Given the description of an element on the screen output the (x, y) to click on. 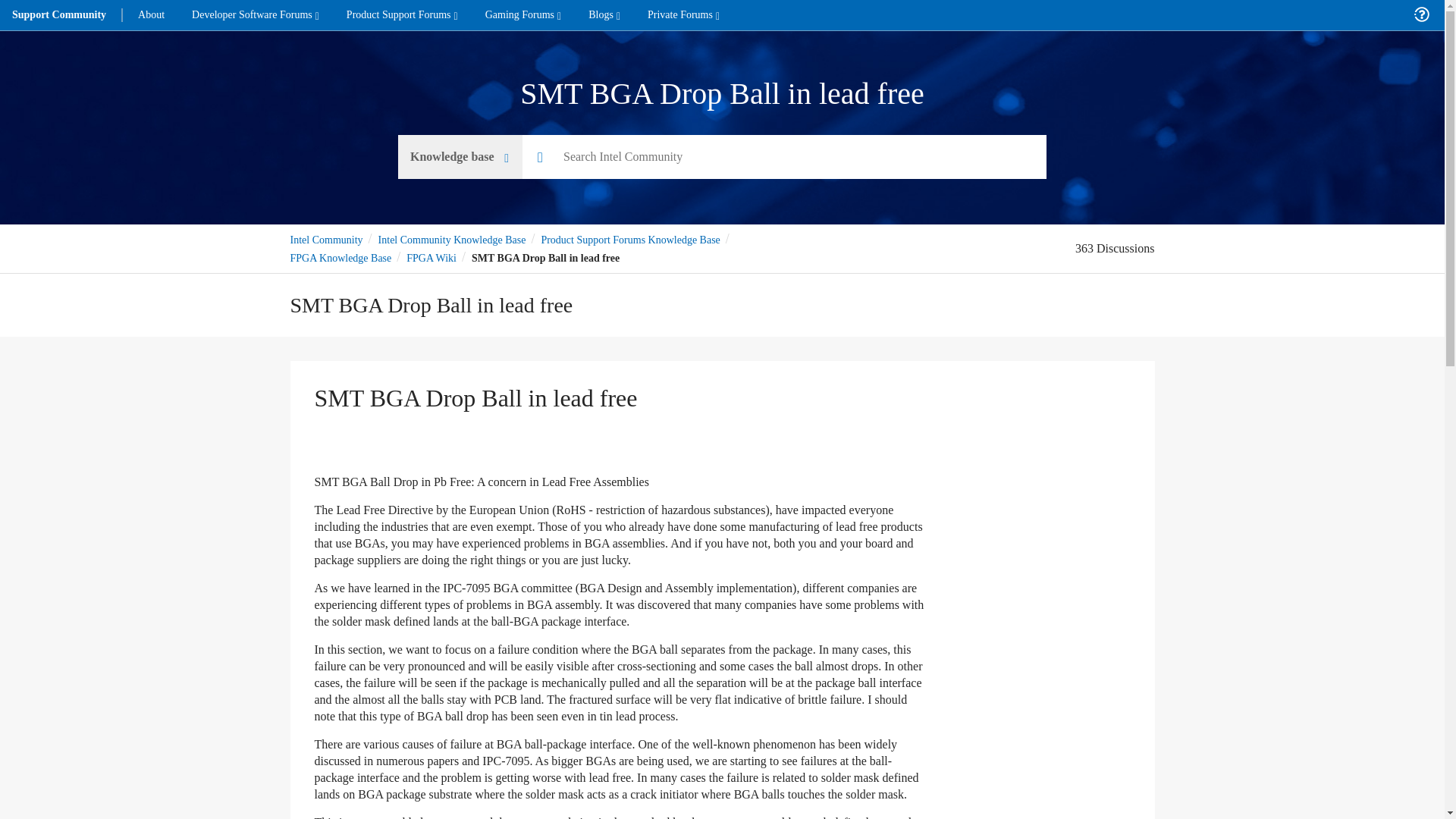
About (150, 15)
Search In (459, 157)
Support Community (58, 15)
Developer Software Forums (255, 15)
Product Support Forums (402, 15)
Blogs (603, 15)
Gaming Forums (523, 15)
Search (784, 157)
